Given the description of an element on the screen output the (x, y) to click on. 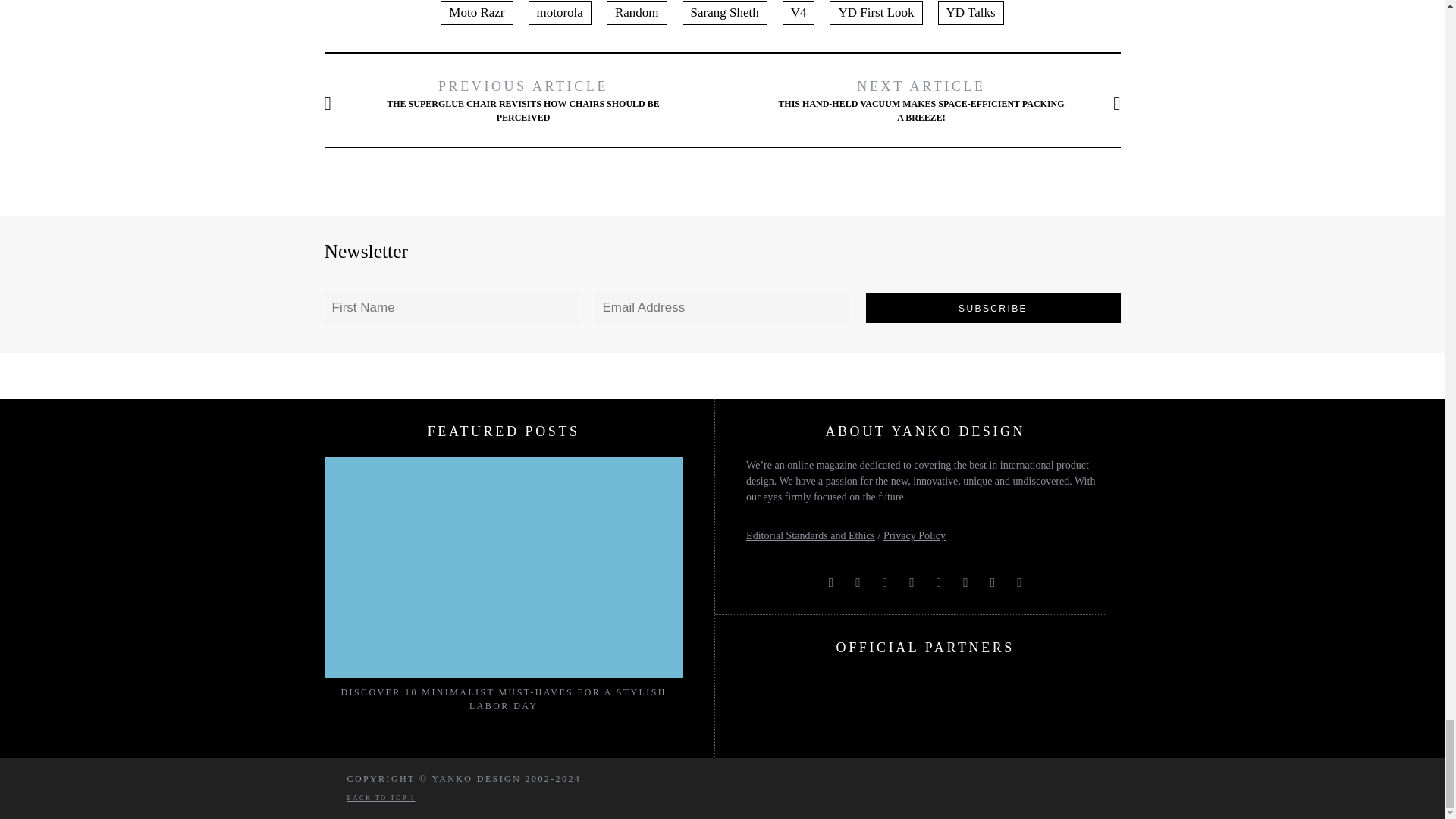
Subscribe (993, 307)
Editorial Standards and Ethics (810, 535)
Privacy Policy (913, 535)
